Given the description of an element on the screen output the (x, y) to click on. 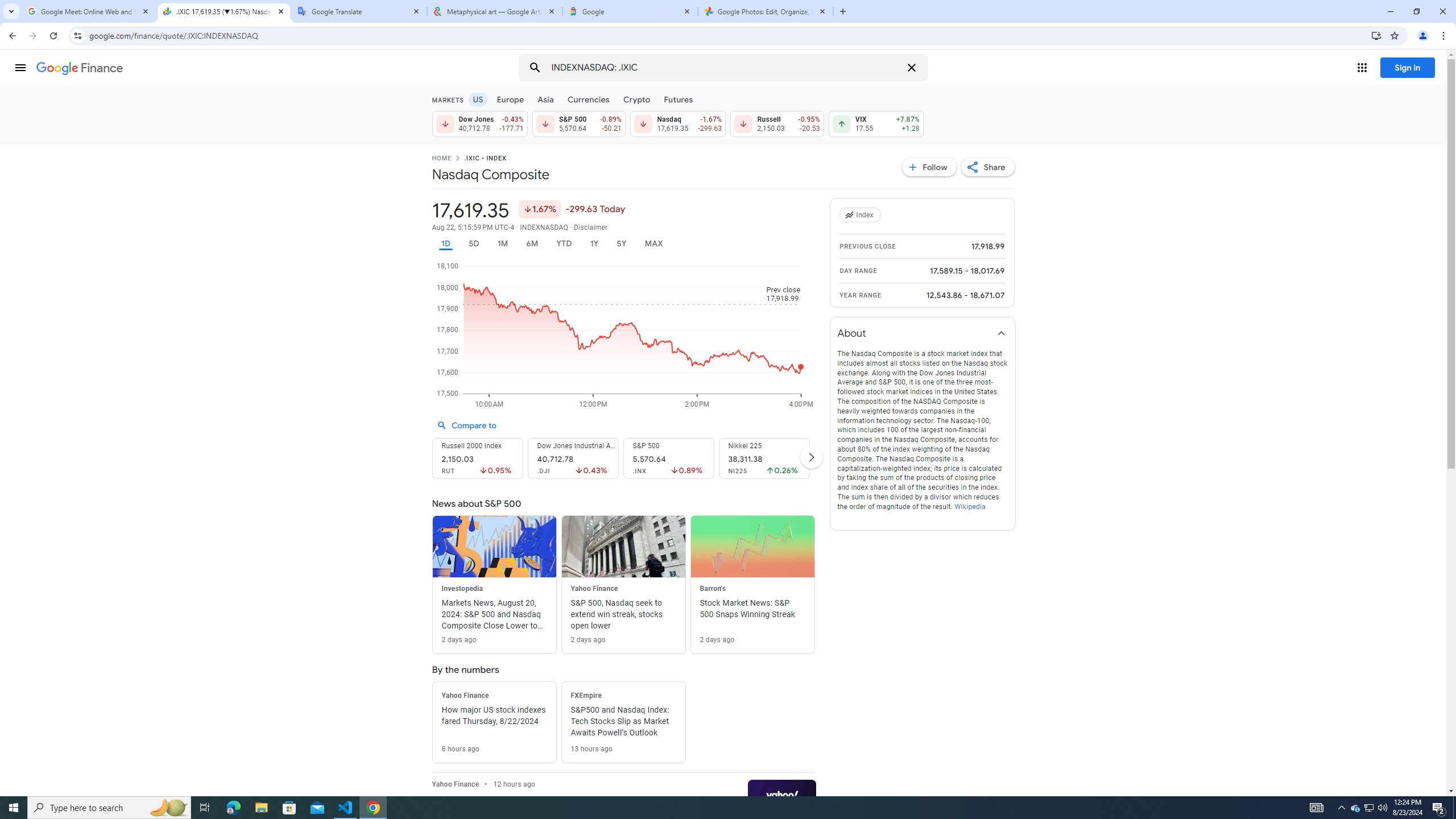
Futures (678, 99)
HOME (440, 158)
VIX 17.55 Up by 7.87% +1.28 (875, 123)
Share (987, 167)
YTD (563, 243)
Asia (545, 99)
Main menu (20, 67)
Wikipedia (969, 506)
